Given the description of an element on the screen output the (x, y) to click on. 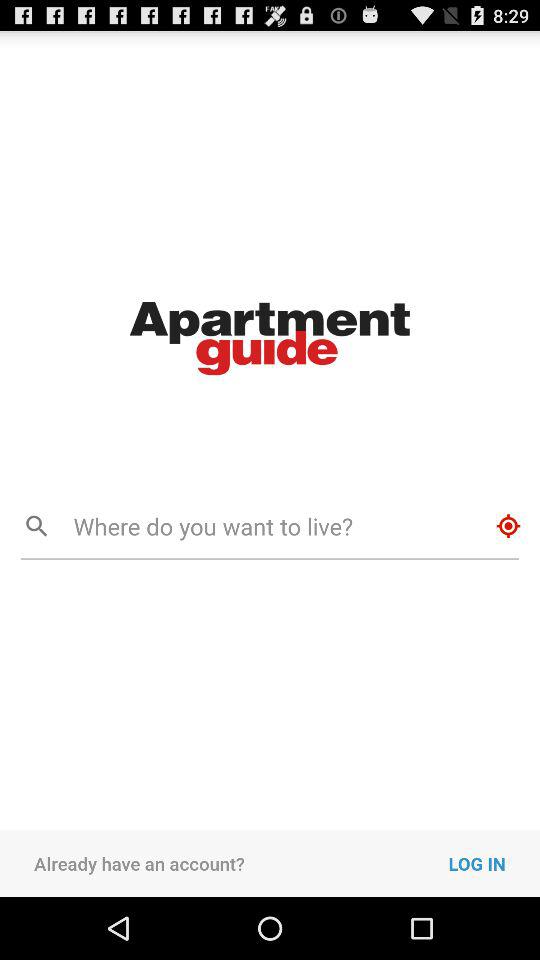
press the icon to the right of the already have an icon (494, 863)
